Given the description of an element on the screen output the (x, y) to click on. 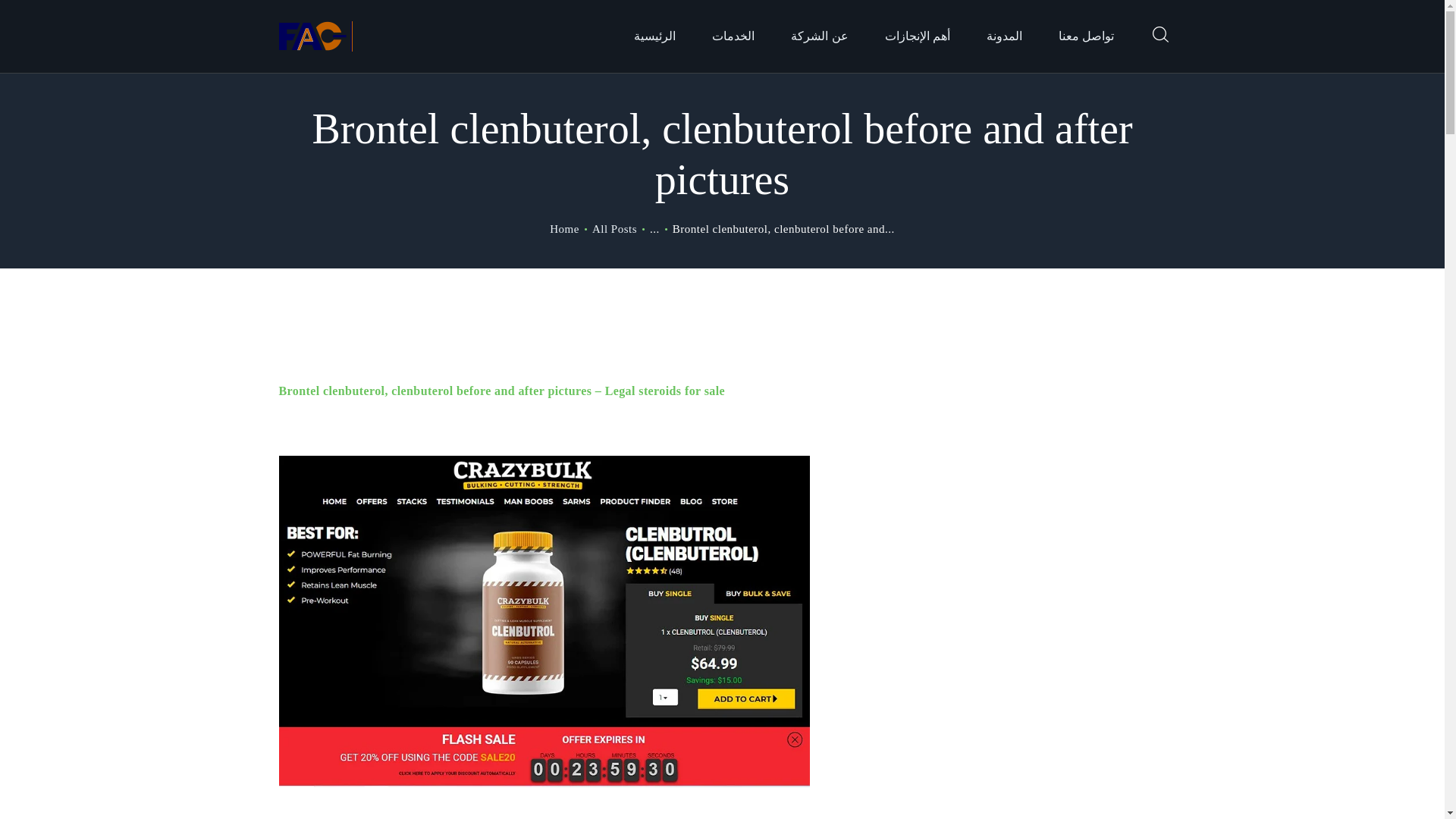
All Posts (614, 228)
Home (564, 228)
